Given the description of an element on the screen output the (x, y) to click on. 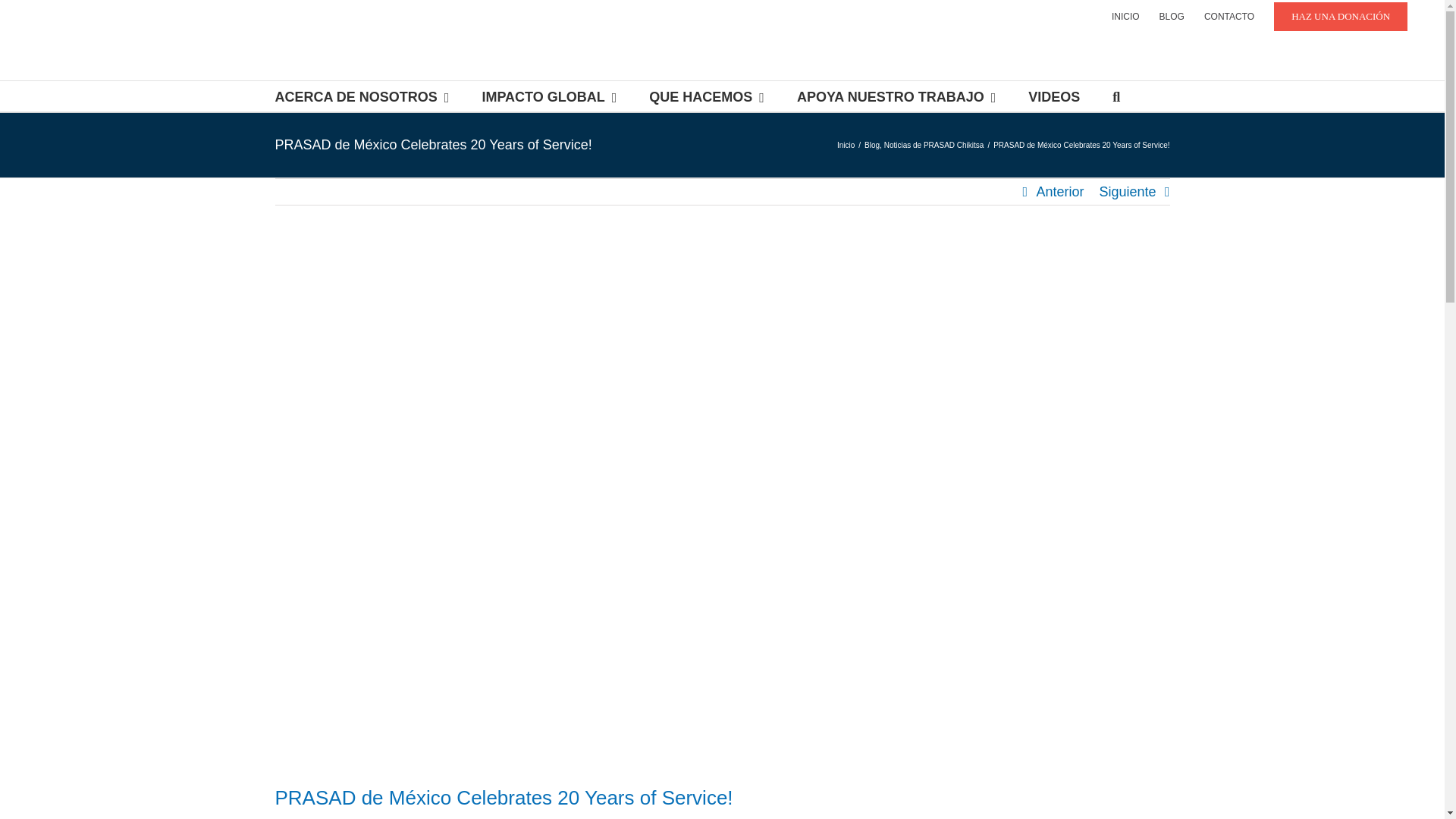
CONTACTO (1228, 16)
INICIO (1126, 16)
Inicio (845, 144)
VIDEOS (1053, 96)
Anterior (1059, 191)
Blog (871, 144)
QUE HACEMOS (706, 96)
Noticias de PRASAD Chikitsa (933, 144)
ACERCA DE NOSOTROS (361, 96)
IMPACTO GLOBAL (548, 96)
